Given the description of an element on the screen output the (x, y) to click on. 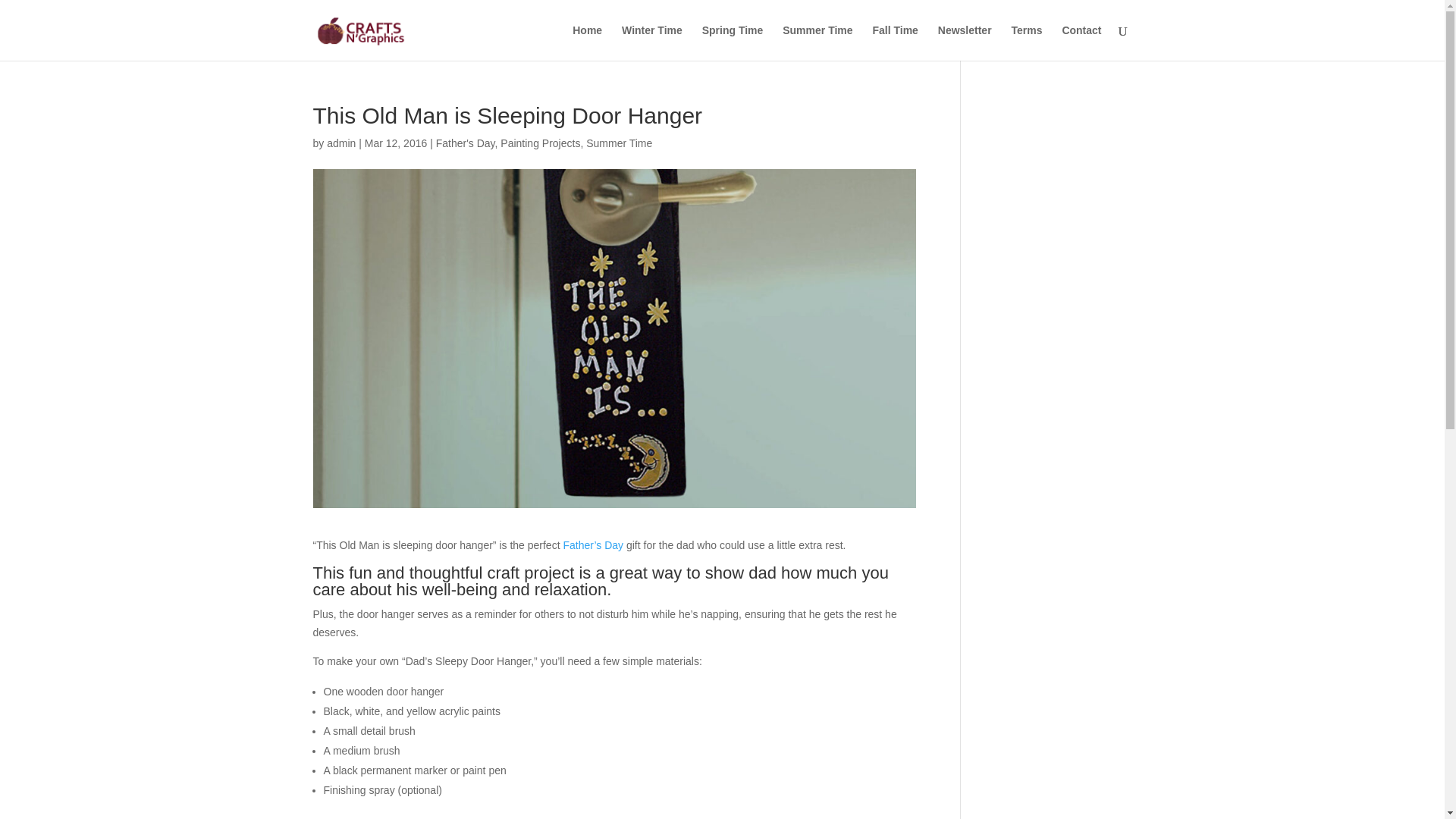
Fall Time (894, 42)
Summer Time (817, 42)
Posts by admin (340, 143)
Summer Time (619, 143)
Contact (1080, 42)
Winter Time (651, 42)
Painting Projects (539, 143)
Spring Time (731, 42)
Home (587, 42)
Newsletter (964, 42)
Terms (1026, 42)
Father's Day (465, 143)
admin (340, 143)
